Given the description of an element on the screen output the (x, y) to click on. 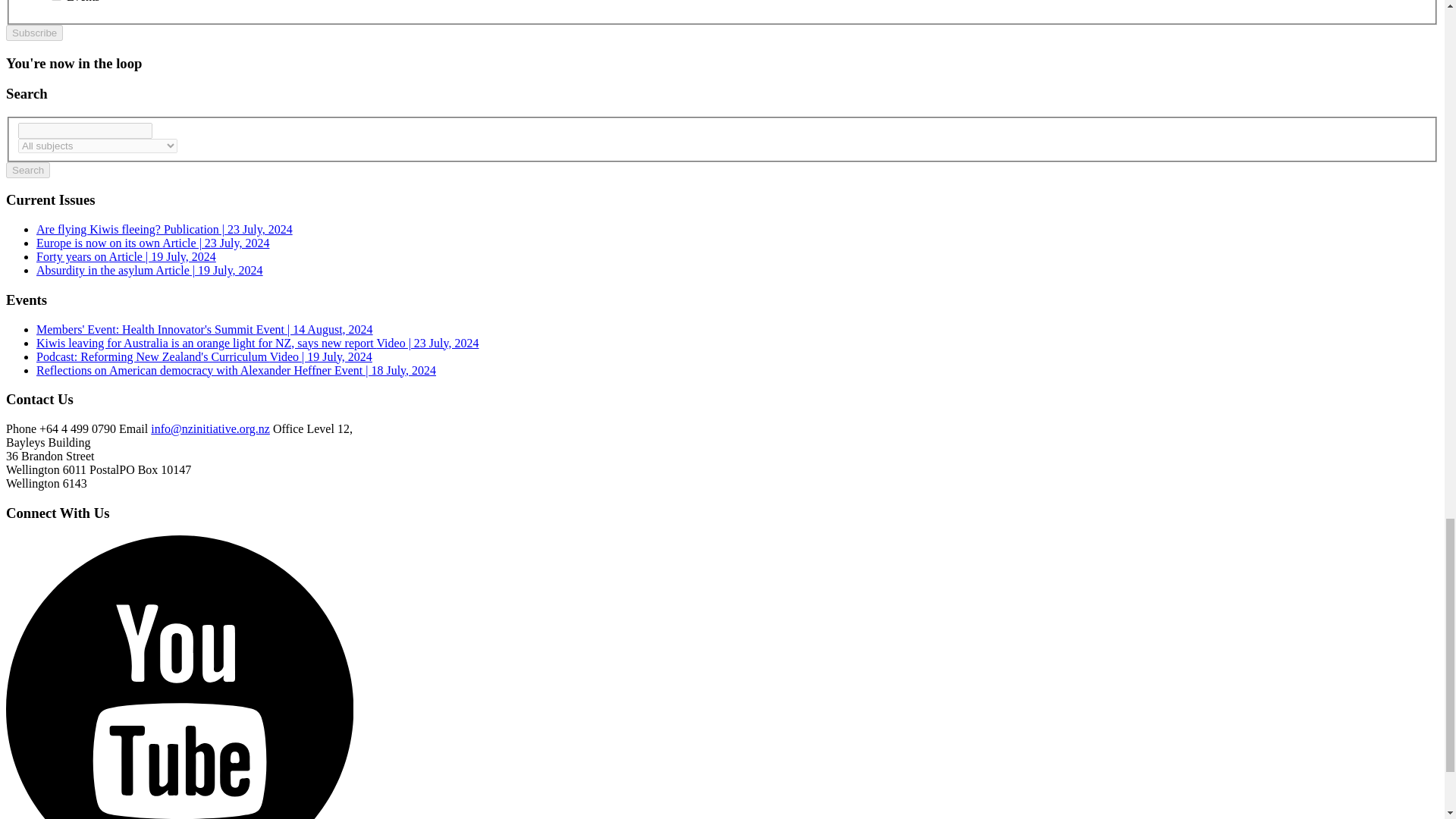
Europe is now on its own (152, 242)
Are flying Kiwis fleeing? (164, 228)
Subscribe (33, 32)
Members' Event: Health Innovator's Summit (204, 328)
Reflections on American democracy with Alexander Heffner (235, 369)
Forty years on (125, 256)
Podcast: Reforming New Zealand's Curriculum (204, 356)
Absurdity in the asylum (149, 269)
Search (27, 170)
